Given the description of an element on the screen output the (x, y) to click on. 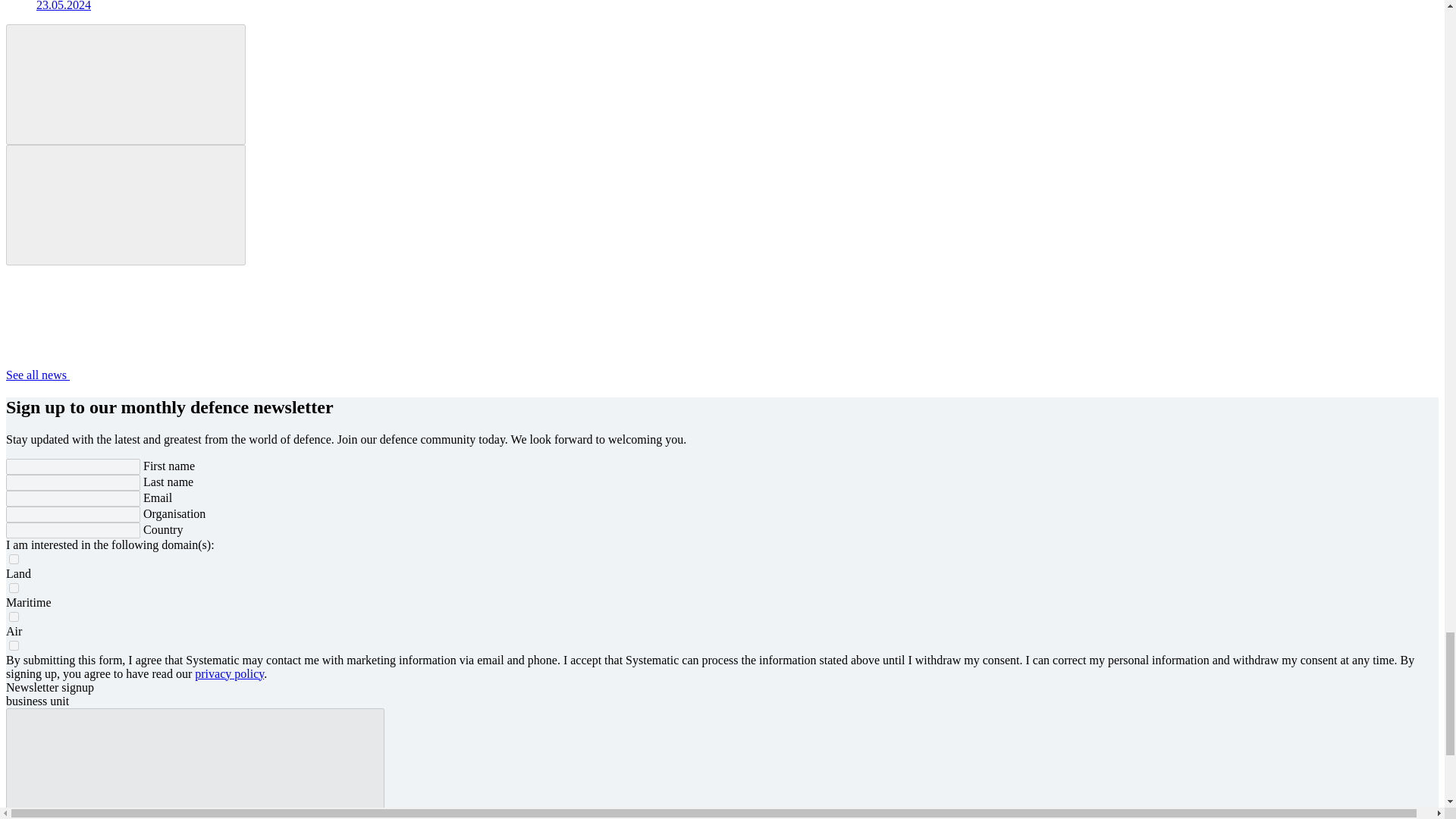
true (13, 644)
Land (13, 558)
privacy policy (229, 673)
Yes, please keep me updated! (194, 763)
Maritime (13, 587)
See all news (151, 374)
Air (13, 615)
